Given the description of an element on the screen output the (x, y) to click on. 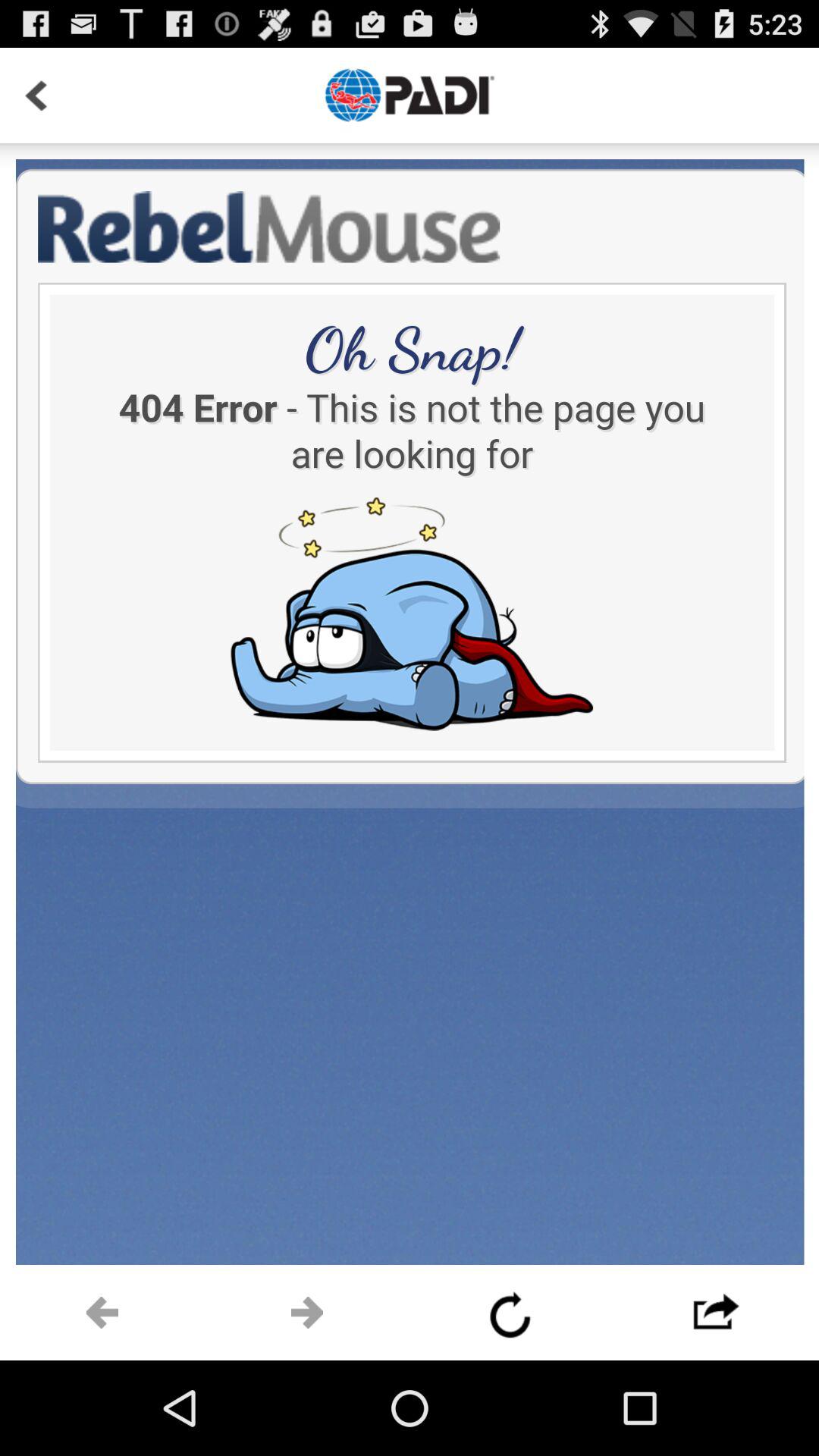
go to next (102, 1312)
